Given the description of an element on the screen output the (x, y) to click on. 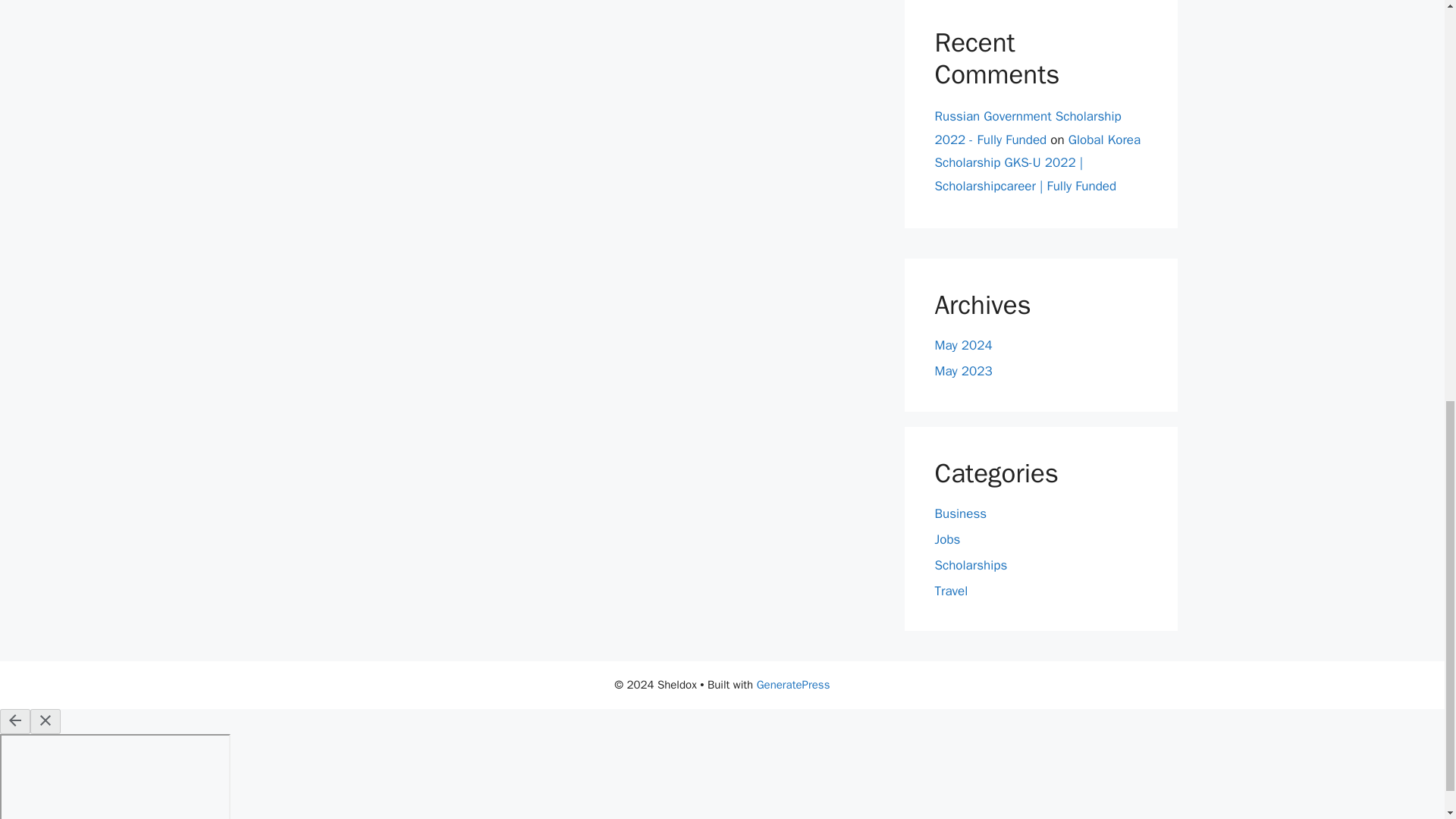
Scholarships (970, 565)
Business (960, 513)
May 2023 (962, 371)
GeneratePress (793, 684)
May 2024 (962, 344)
Travel (951, 590)
Jobs (946, 539)
Russian Government Scholarship 2022 - Fully Funded (1027, 128)
